Given the description of an element on the screen output the (x, y) to click on. 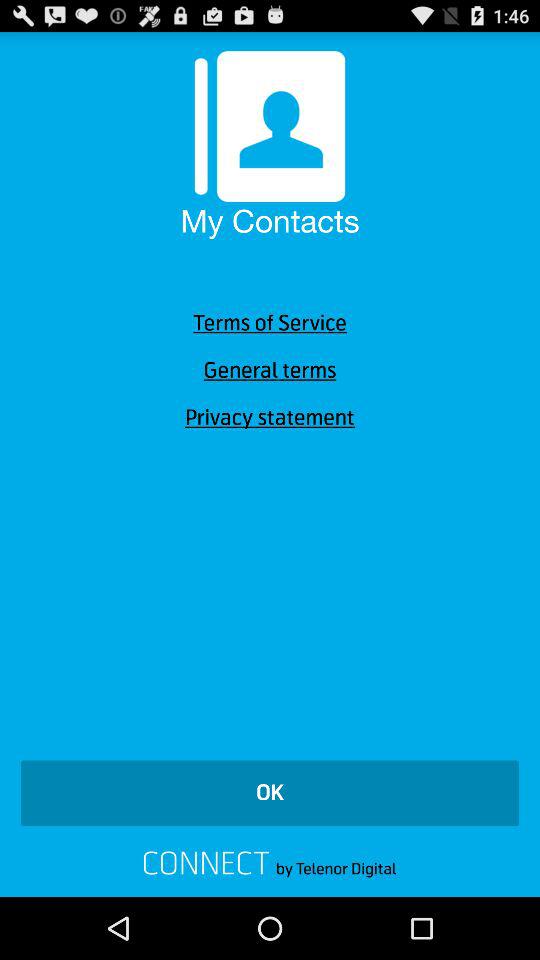
swipe until the ok (270, 793)
